Given the description of an element on the screen output the (x, y) to click on. 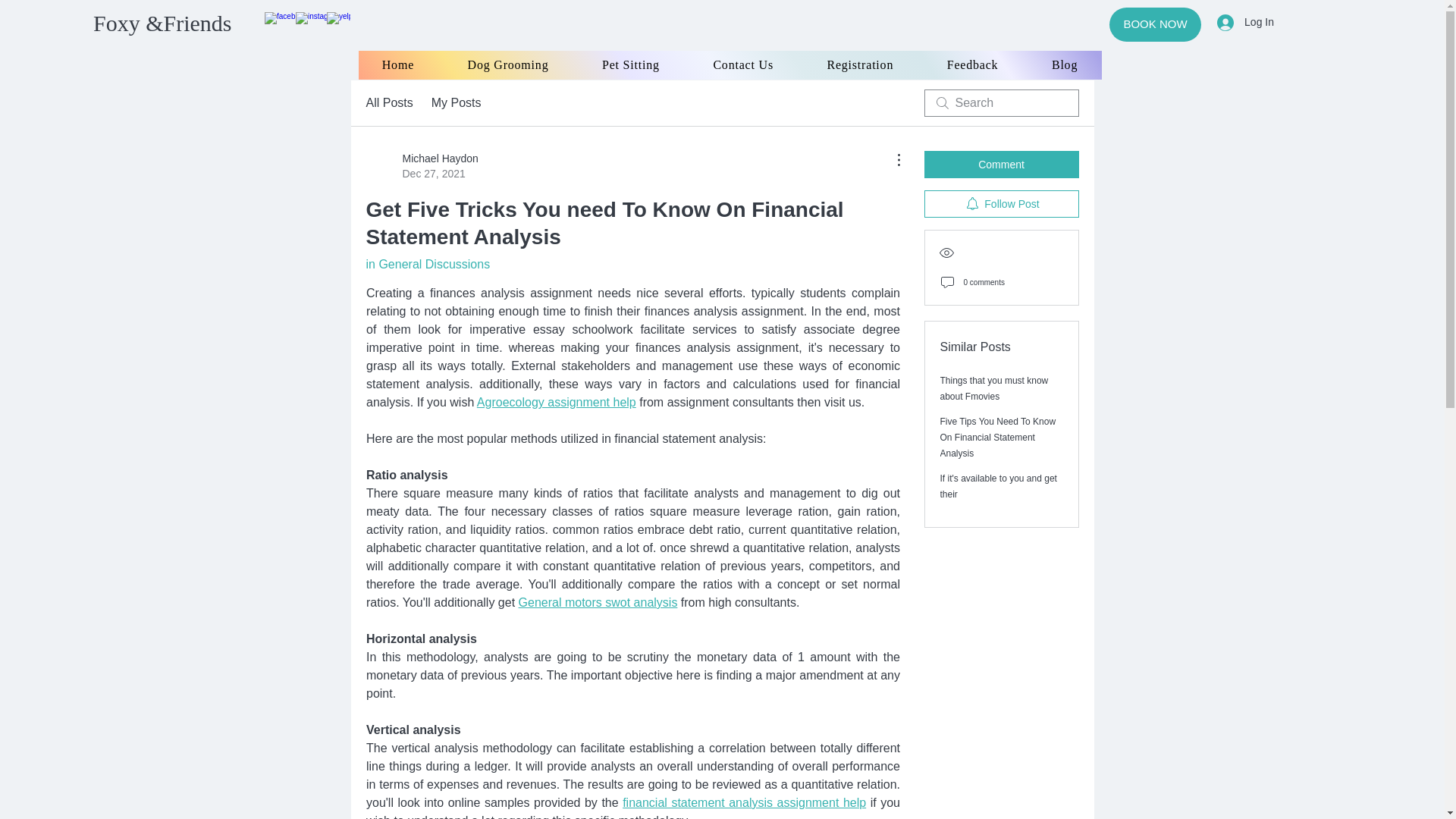
Agroecology assignment help (555, 401)
Things that you must know about Fmovies (994, 388)
My Posts (455, 103)
Feedback (972, 64)
BOOK NOW (1155, 24)
If it's available to you and get their (998, 486)
in General Discussions (427, 264)
Contact Us (742, 64)
Five Tips You Need To Know On Financial Statement Analysis (421, 165)
